Given the description of an element on the screen output the (x, y) to click on. 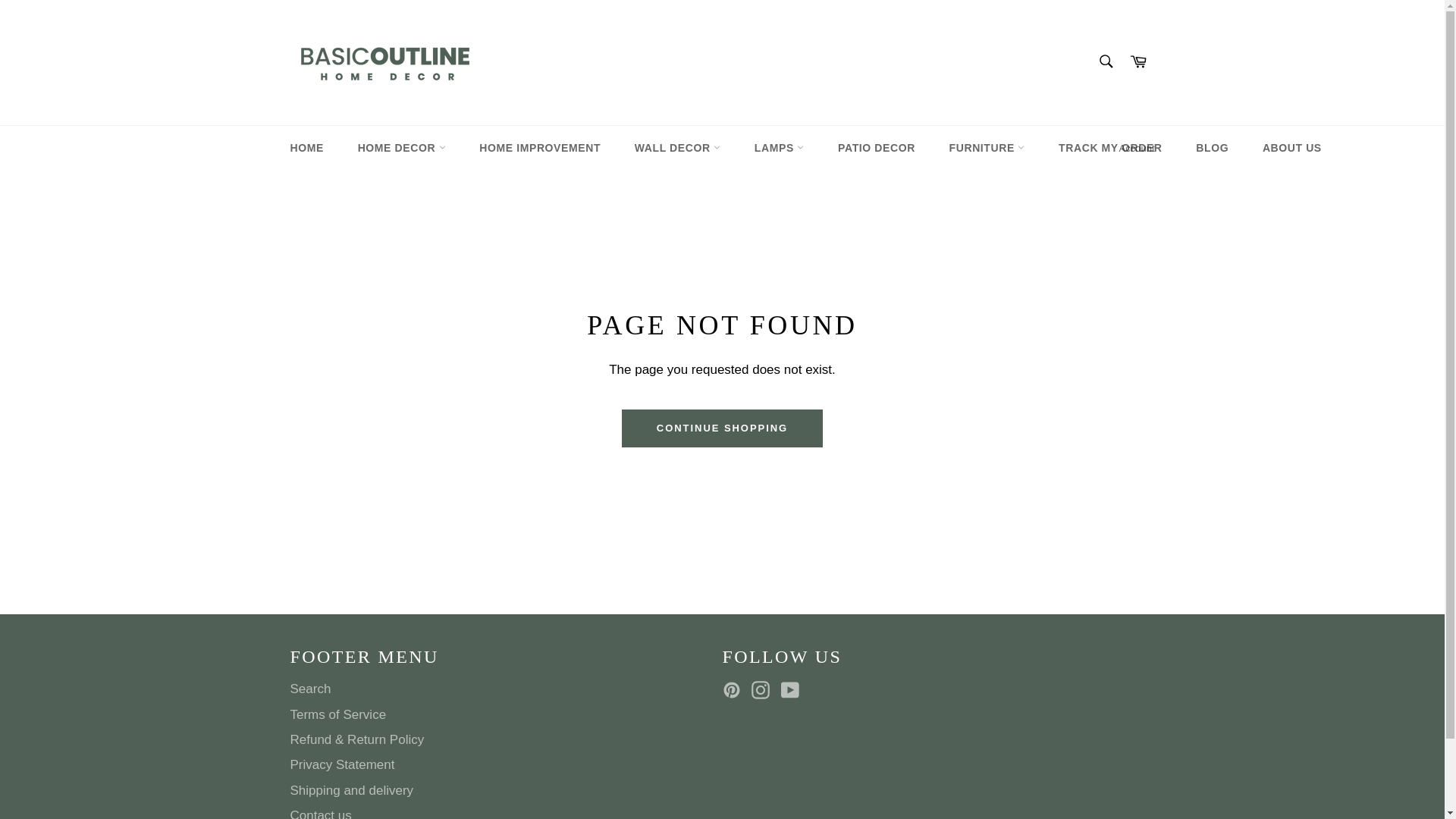
Cart (1138, 62)
Basic Outline Interiors on Pinterest (735, 689)
Search (1104, 60)
Basic Outline Interiors on Instagram (764, 689)
Basic Outline Interiors on YouTube (793, 689)
